Given the description of an element on the screen output the (x, y) to click on. 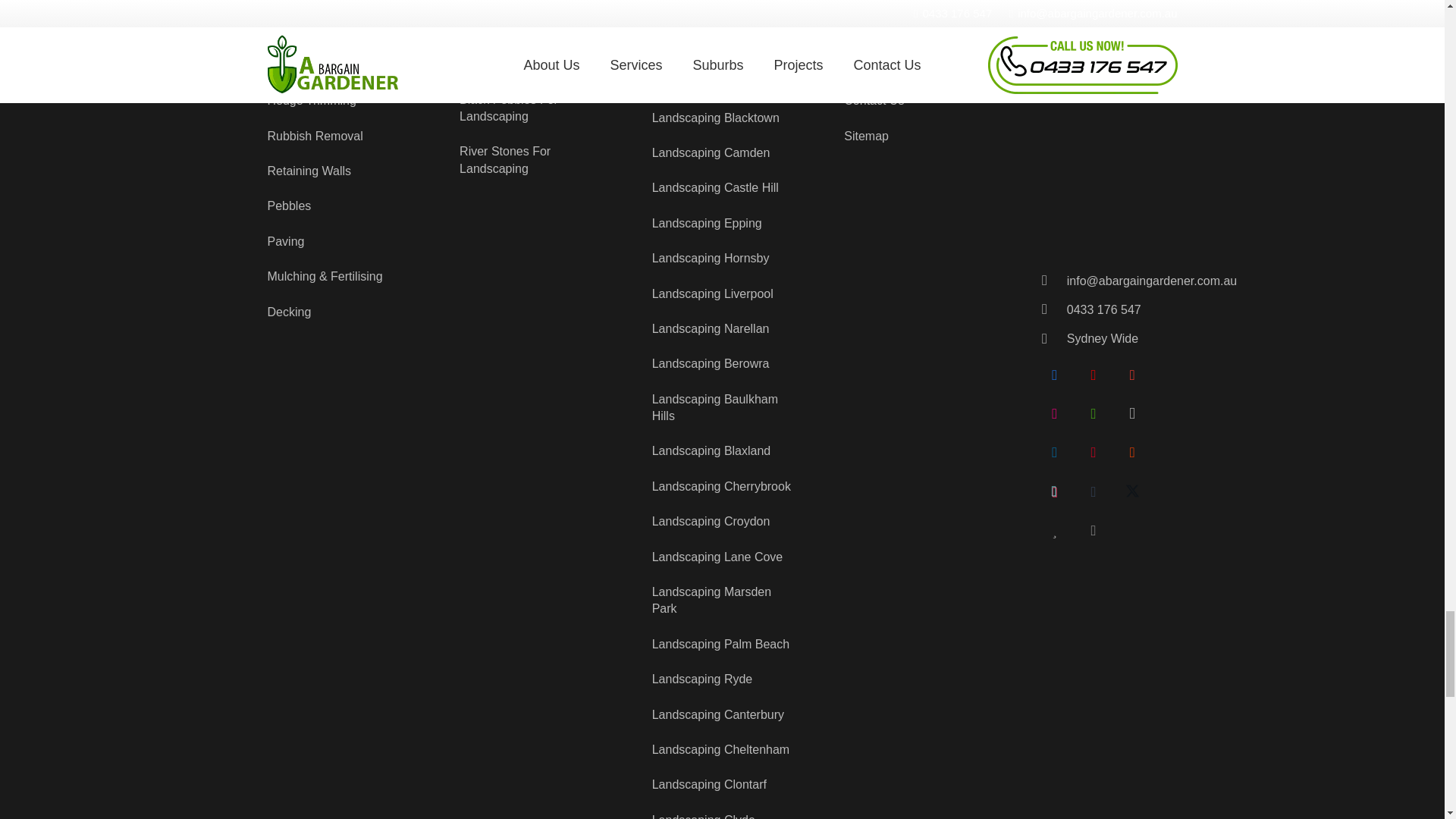
YouTube (1093, 375)
Flickr (1054, 413)
Facebook (1054, 375)
Google (1131, 375)
Houzz (1093, 413)
